Given the description of an element on the screen output the (x, y) to click on. 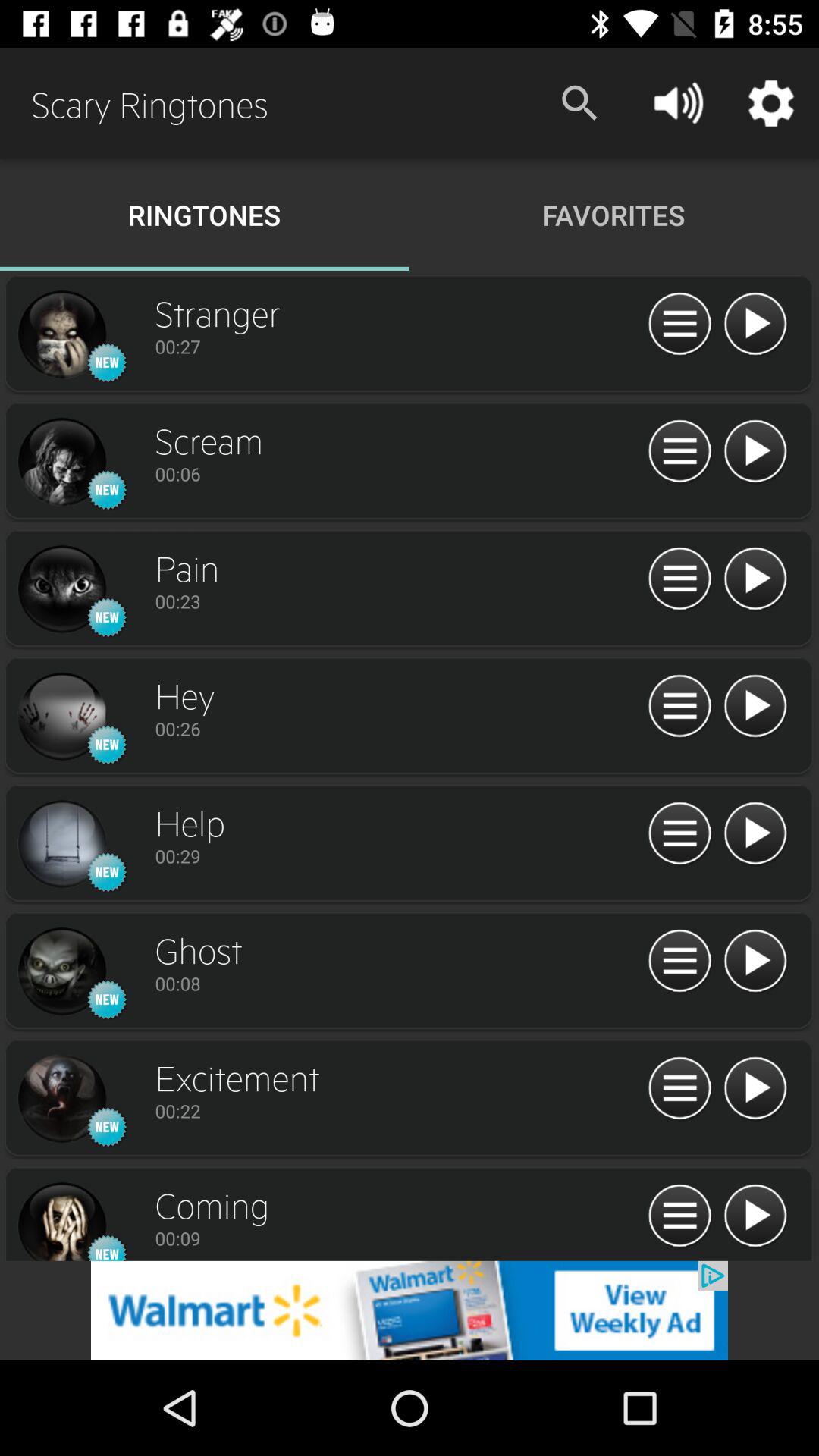
click play button (755, 706)
